Given the description of an element on the screen output the (x, y) to click on. 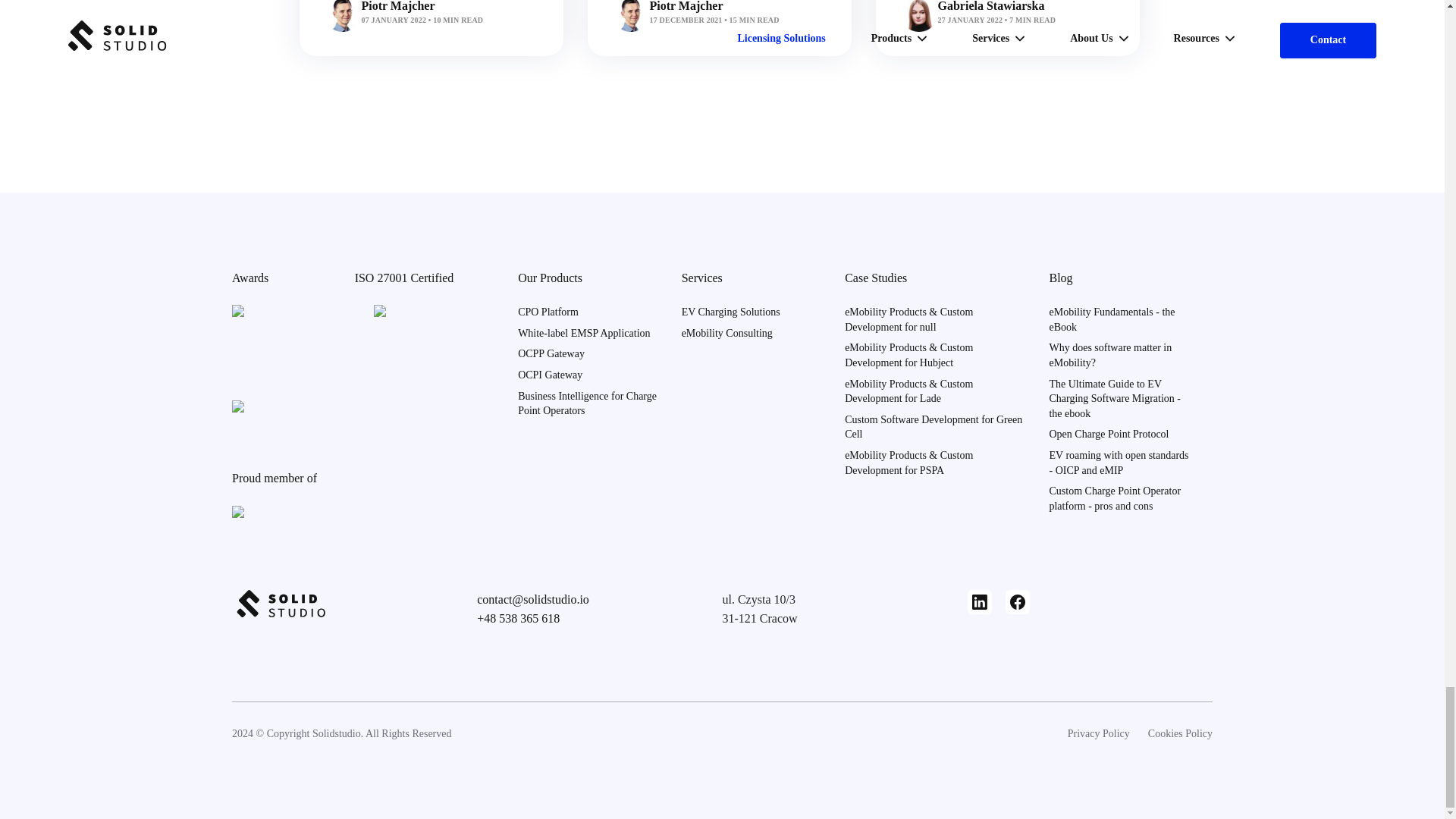
Why does software matter in eMobility? (1110, 355)
Custom Charge Point Operator platform - pros and cons (1114, 498)
Open Charge Point Protocol (1108, 433)
OCPI Gateway (550, 374)
EV Charging Solutions (730, 311)
eMobility Fundamentals - the eBook (1111, 319)
White-label EMSP Application (583, 333)
eMobility Consulting (727, 333)
LinkedIn profile (979, 601)
